Given the description of an element on the screen output the (x, y) to click on. 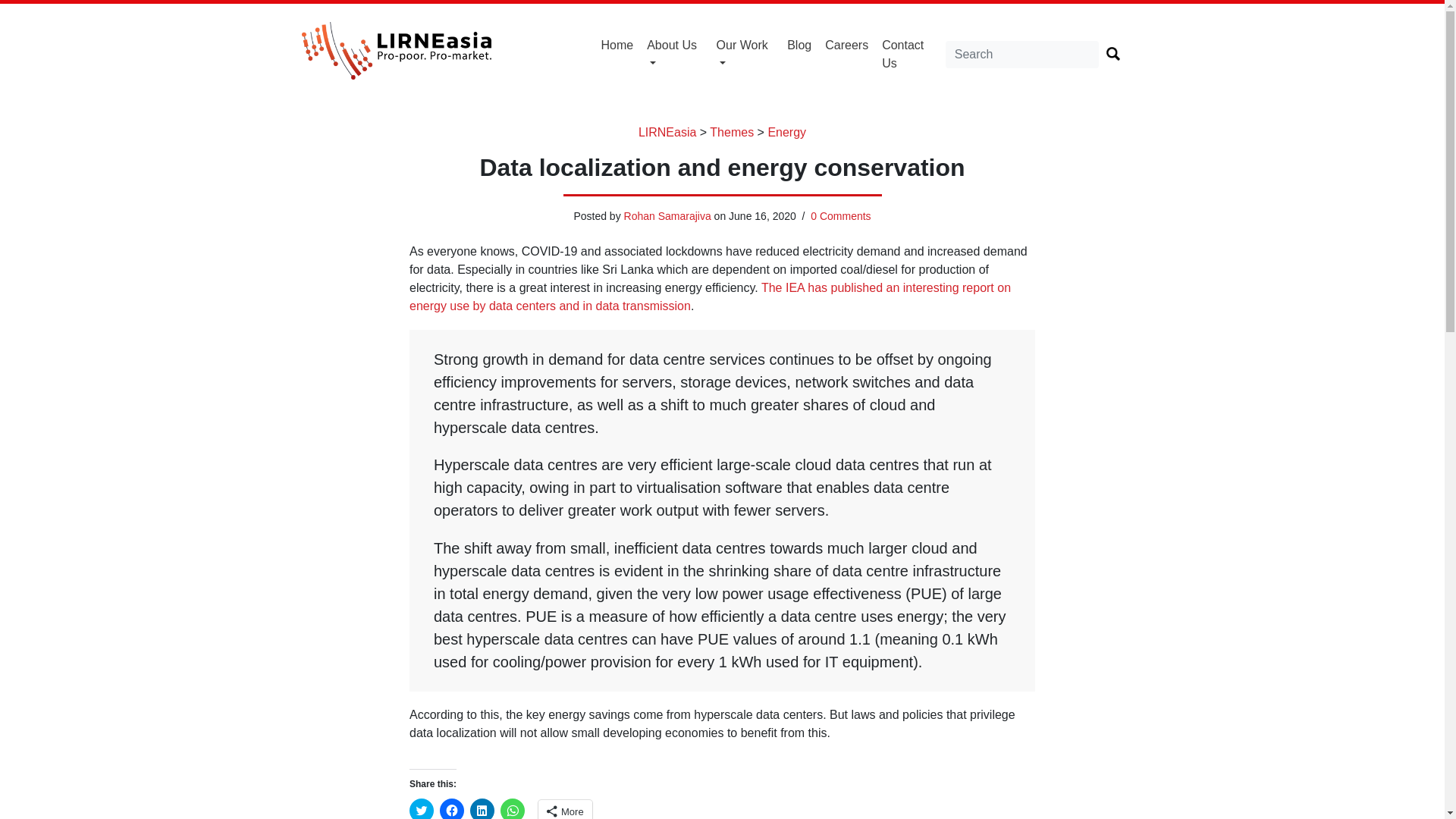
Blog (799, 45)
Energy (786, 132)
Careers (846, 45)
Our Work (745, 54)
LIRNEasia (667, 132)
Our Work (745, 54)
Careers (846, 45)
About Us (674, 54)
Contact Us (909, 54)
Home (617, 45)
Contact us (909, 54)
Themes (732, 132)
Blog (799, 45)
About us (674, 54)
Home (617, 45)
